Given the description of an element on the screen output the (x, y) to click on. 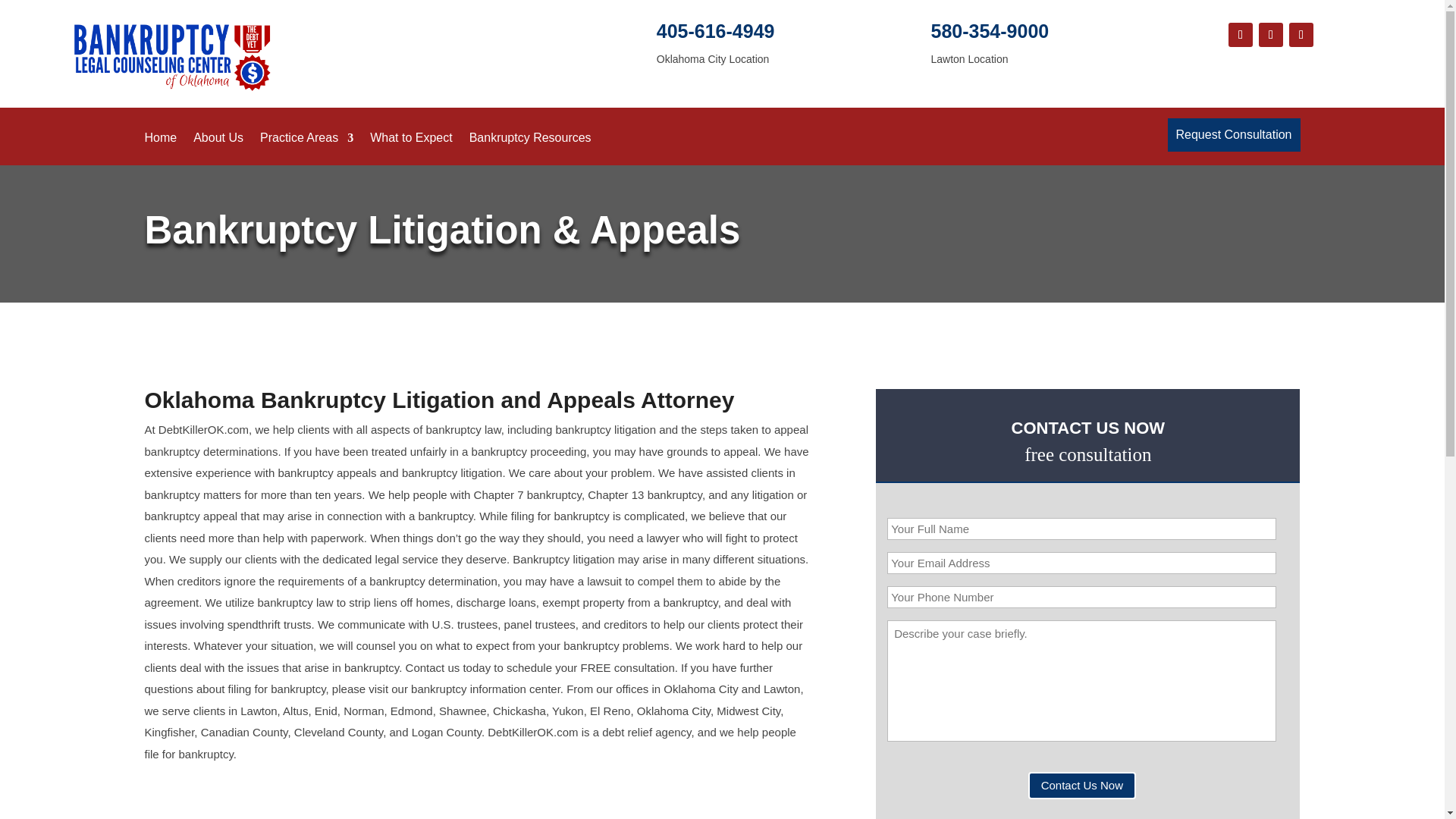
About Us (218, 148)
Follow on Facebook (1240, 34)
Home (160, 148)
Request Consultation (1234, 134)
BLCC-transparent (173, 53)
Practice Areas (306, 148)
What to Expect (410, 148)
Contact Us Now (1081, 785)
Contact Us Now (1081, 785)
Follow on LinkedIn (1300, 34)
